Given the description of an element on the screen output the (x, y) to click on. 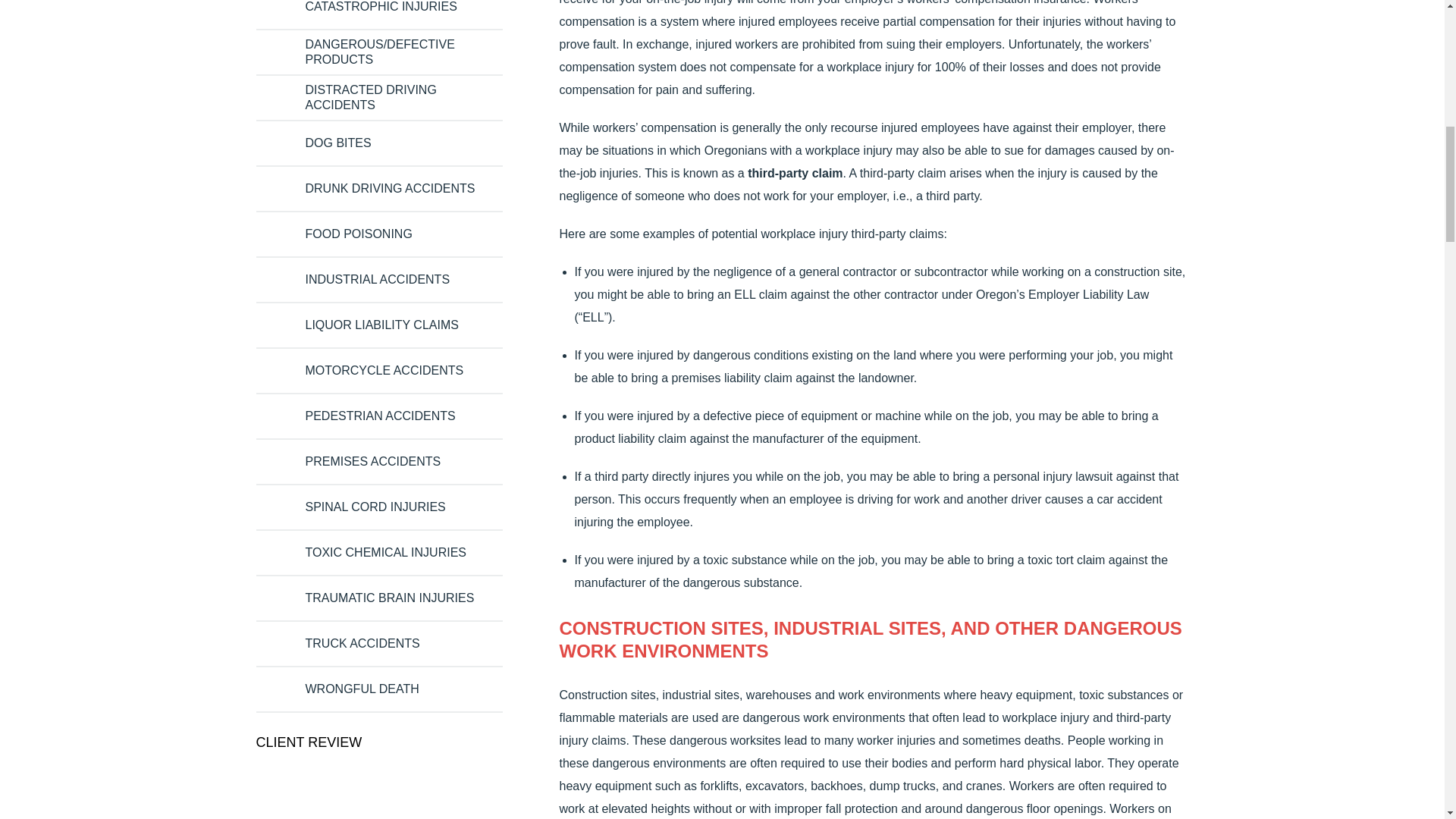
TRAUMATIC BRAIN INJURIES (389, 598)
DRUNK DRIVING ACCIDENTS (389, 188)
DOG BITES (337, 142)
LIQUOR LIABILITY CLAIMS (381, 324)
FOOD POISONING (358, 233)
TOXIC CHEMICAL INJURIES (384, 552)
PREMISES ACCIDENTS (372, 461)
INDUSTRIAL ACCIDENTS (376, 279)
SPINAL CORD INJURIES (374, 507)
CATASTROPHIC INJURIES (380, 7)
PEDESTRIAN ACCIDENTS (379, 416)
MOTORCYCLE ACCIDENTS (383, 370)
DISTRACTED DRIVING ACCIDENTS (395, 97)
